Given the description of an element on the screen output the (x, y) to click on. 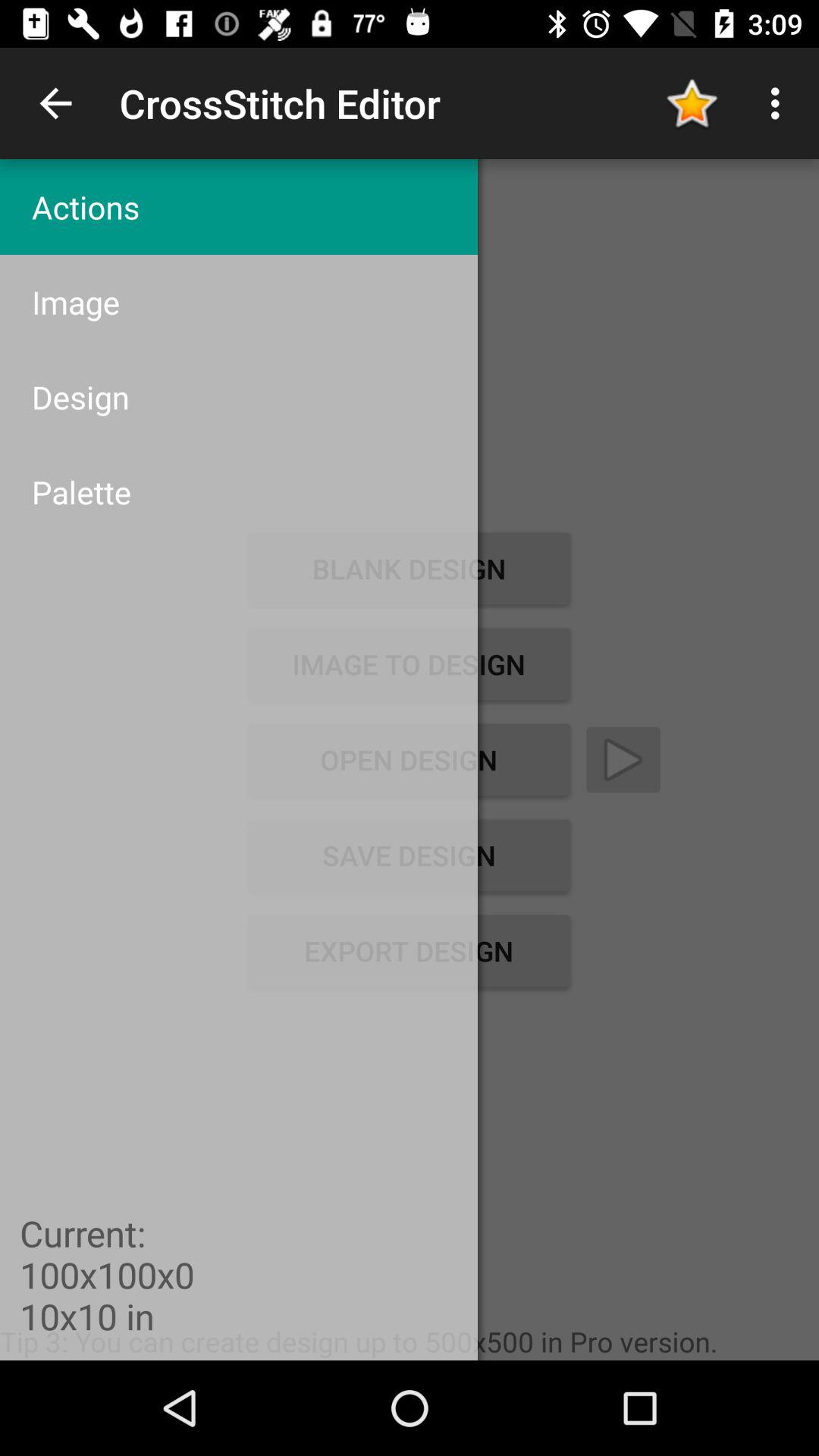
turn off item to the right of the actions icon (691, 103)
